Given the description of an element on the screen output the (x, y) to click on. 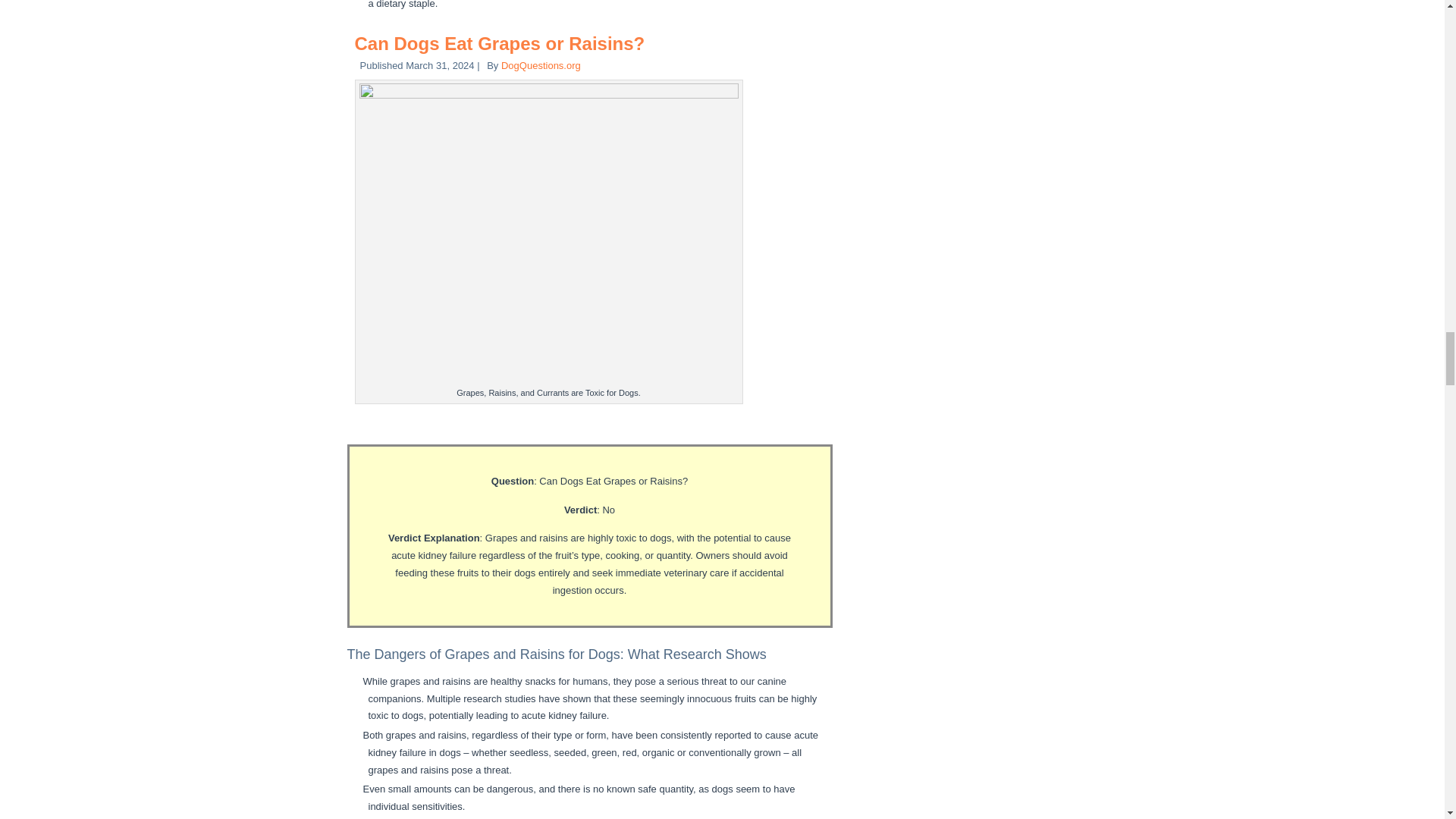
DogQuestions.org (540, 65)
11:18 pm (440, 65)
Can Dogs Eat Grapes or Raisins? (500, 43)
View all posts by DogQuestions.org (540, 65)
Can Dogs Eat Grapes or Raisins? (500, 43)
